Given the description of an element on the screen output the (x, y) to click on. 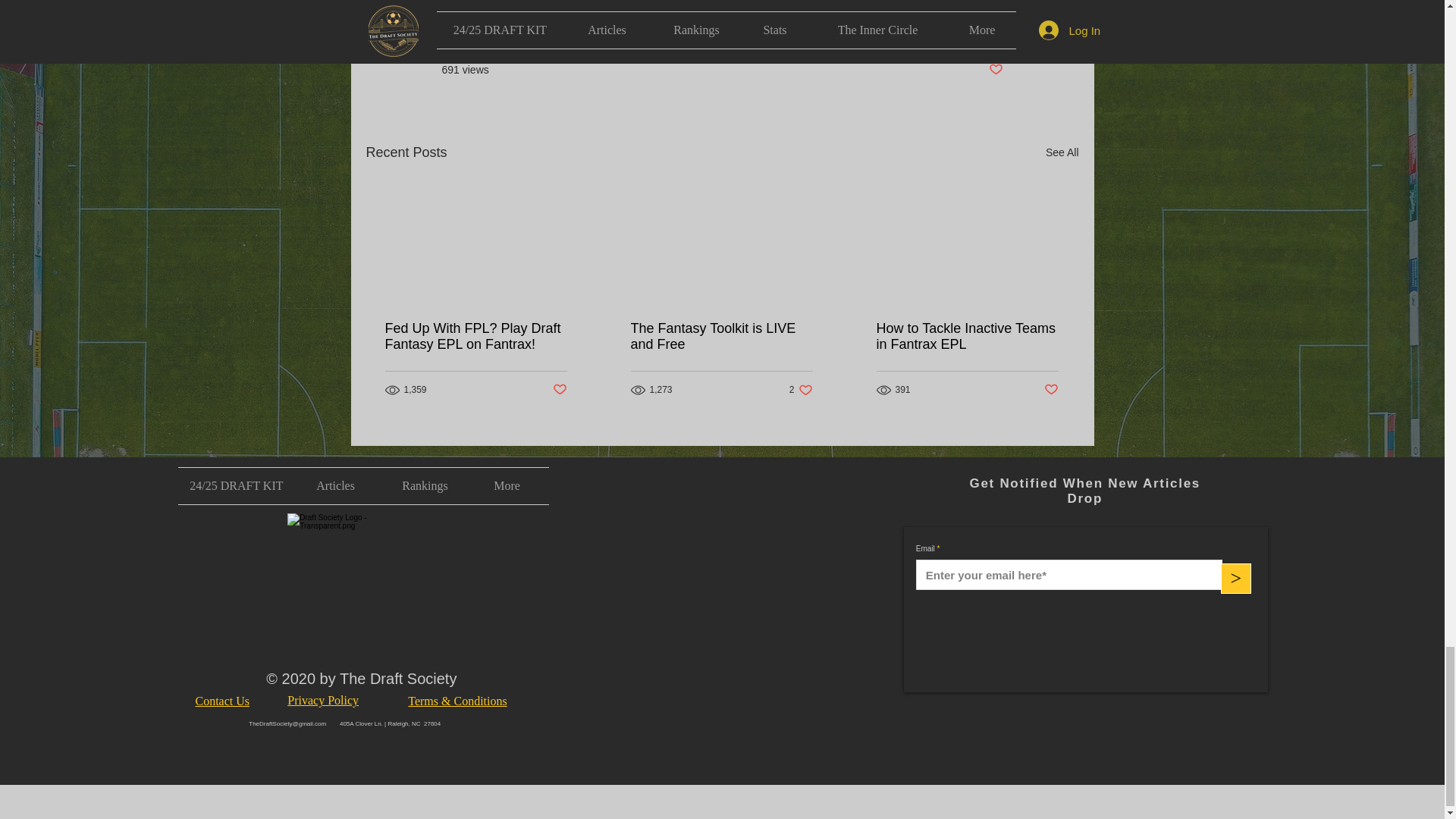
Post not marked as liked (995, 69)
